Given the description of an element on the screen output the (x, y) to click on. 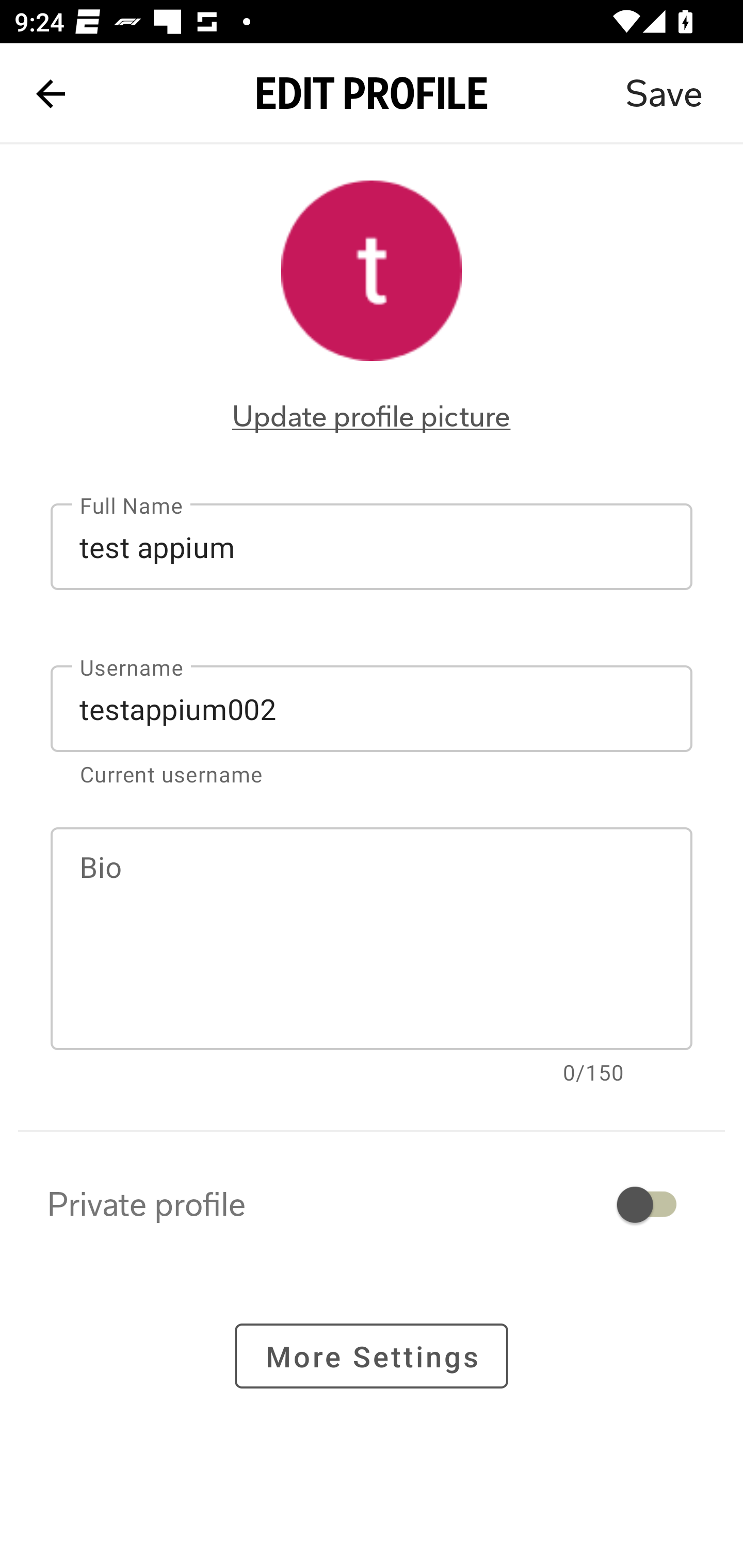
Back (50, 93)
Save (663, 93)
Update profile picture (371, 415)
test appium (371, 546)
testappium002 (371, 708)
Bio (371, 938)
Private profile (371, 1204)
More Settings (371, 1355)
